Given the description of an element on the screen output the (x, y) to click on. 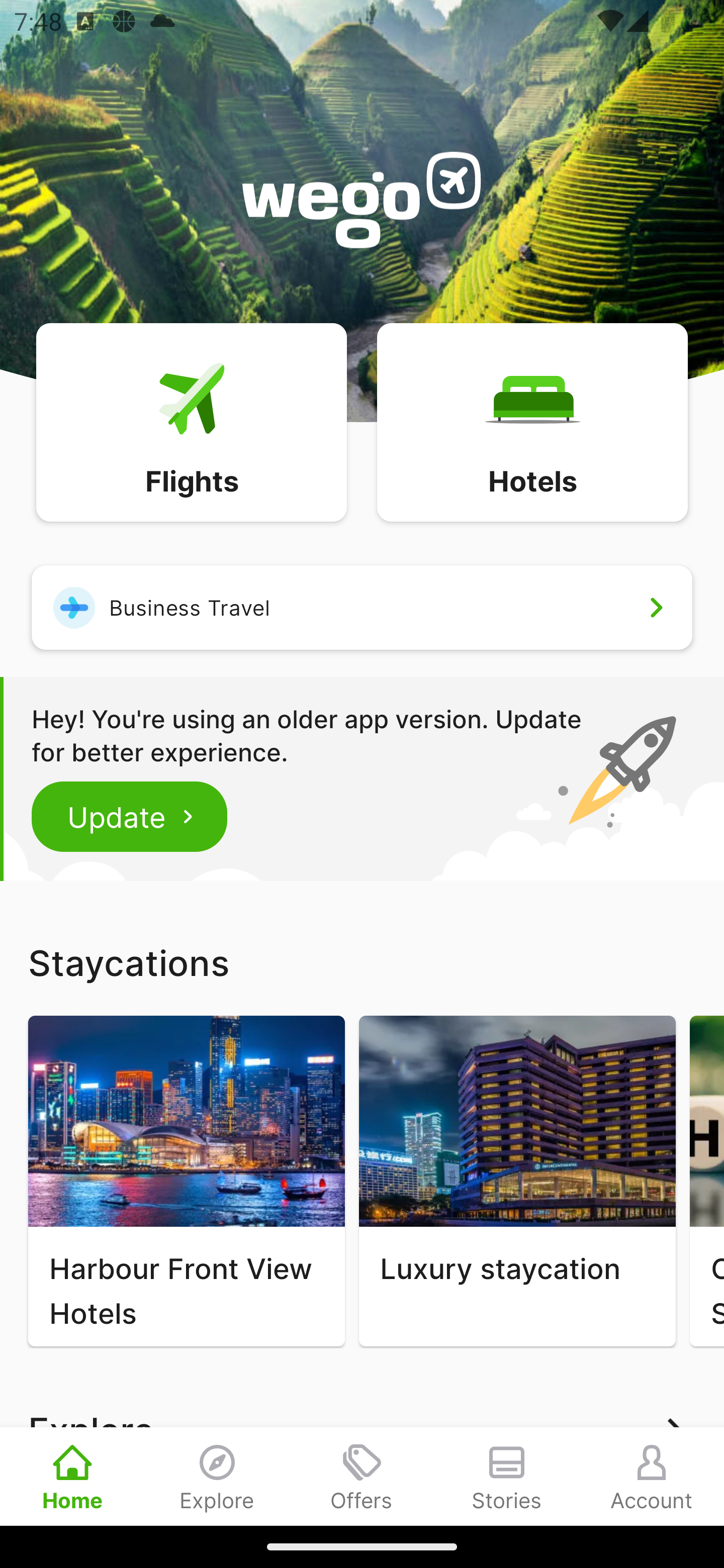
Flights (191, 420)
Hotels (532, 420)
Business Travel (361, 607)
Update (129, 815)
Staycations (362, 962)
Harbour Front View Hotels (186, 1181)
Luxury staycation (517, 1181)
Explore (216, 1475)
Offers (361, 1475)
Stories (506, 1475)
Account (651, 1475)
